Given the description of an element on the screen output the (x, y) to click on. 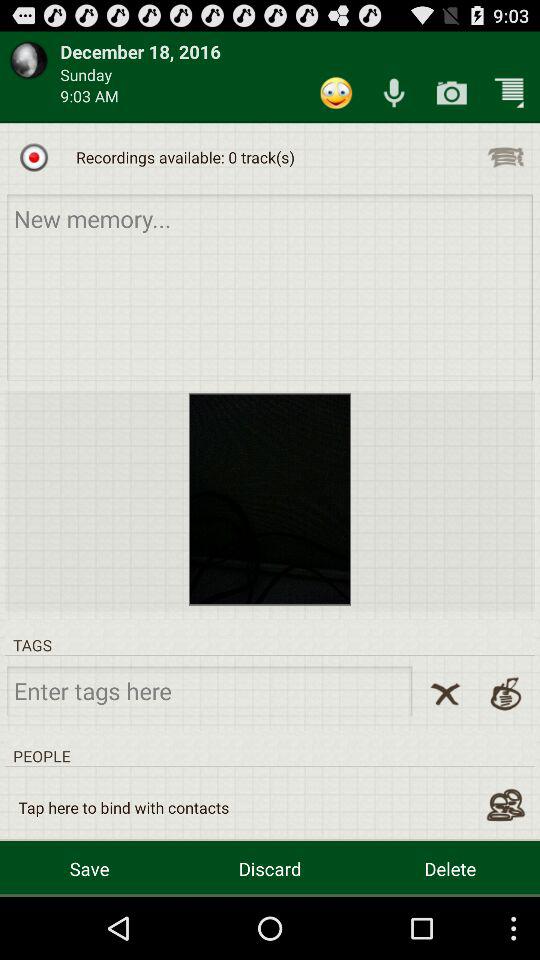
select contact (505, 805)
